Given the description of an element on the screen output the (x, y) to click on. 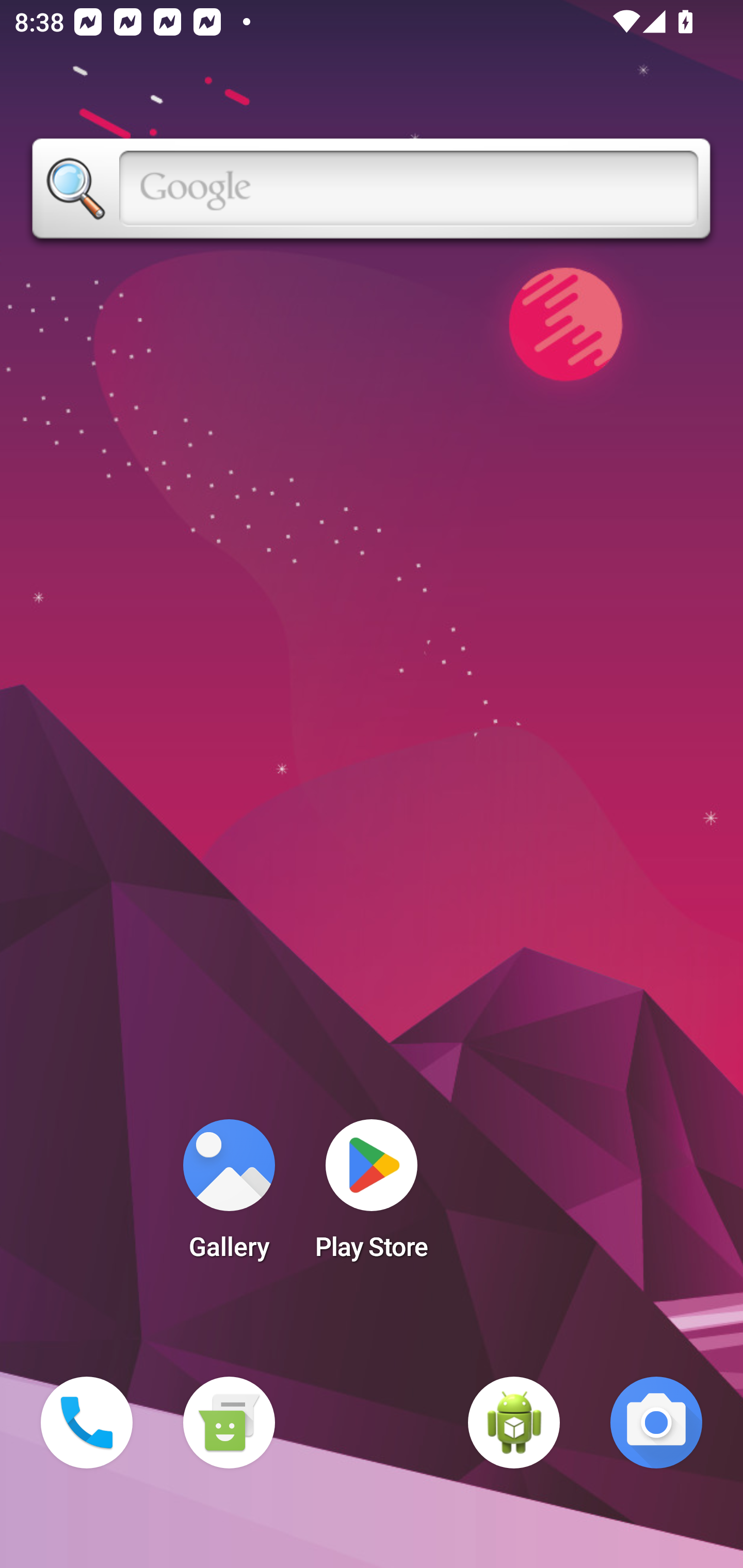
Gallery (228, 1195)
Play Store (371, 1195)
Phone (86, 1422)
Messaging (228, 1422)
WebView Browser Tester (513, 1422)
Camera (656, 1422)
